Given the description of an element on the screen output the (x, y) to click on. 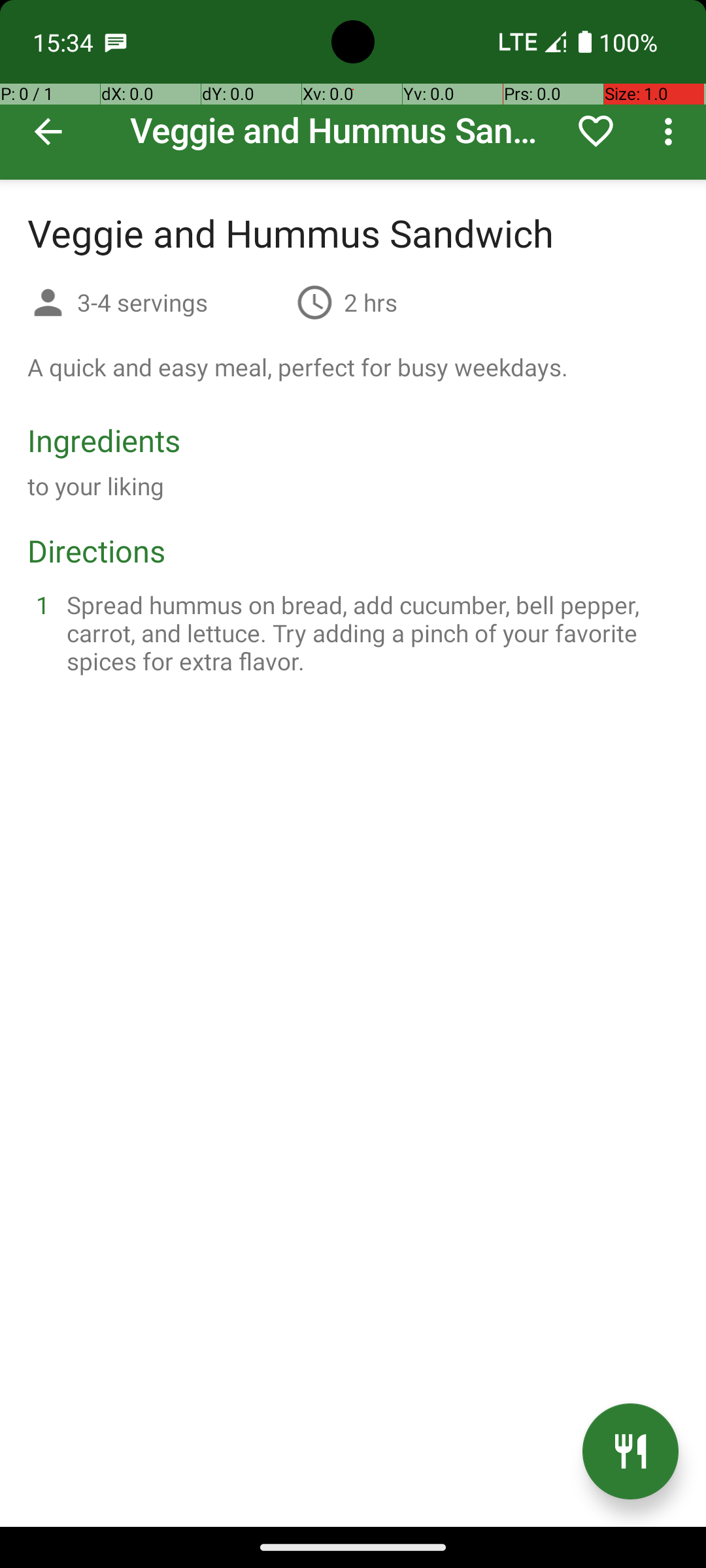
Veggie and Hummus Sandwich Element type: android.widget.FrameLayout (353, 89)
Spread hummus on bread, add cucumber, bell pepper, carrot, and lettuce. Try adding a pinch of your favorite spices for extra flavor. Element type: android.widget.TextView (368, 632)
